Given the description of an element on the screen output the (x, y) to click on. 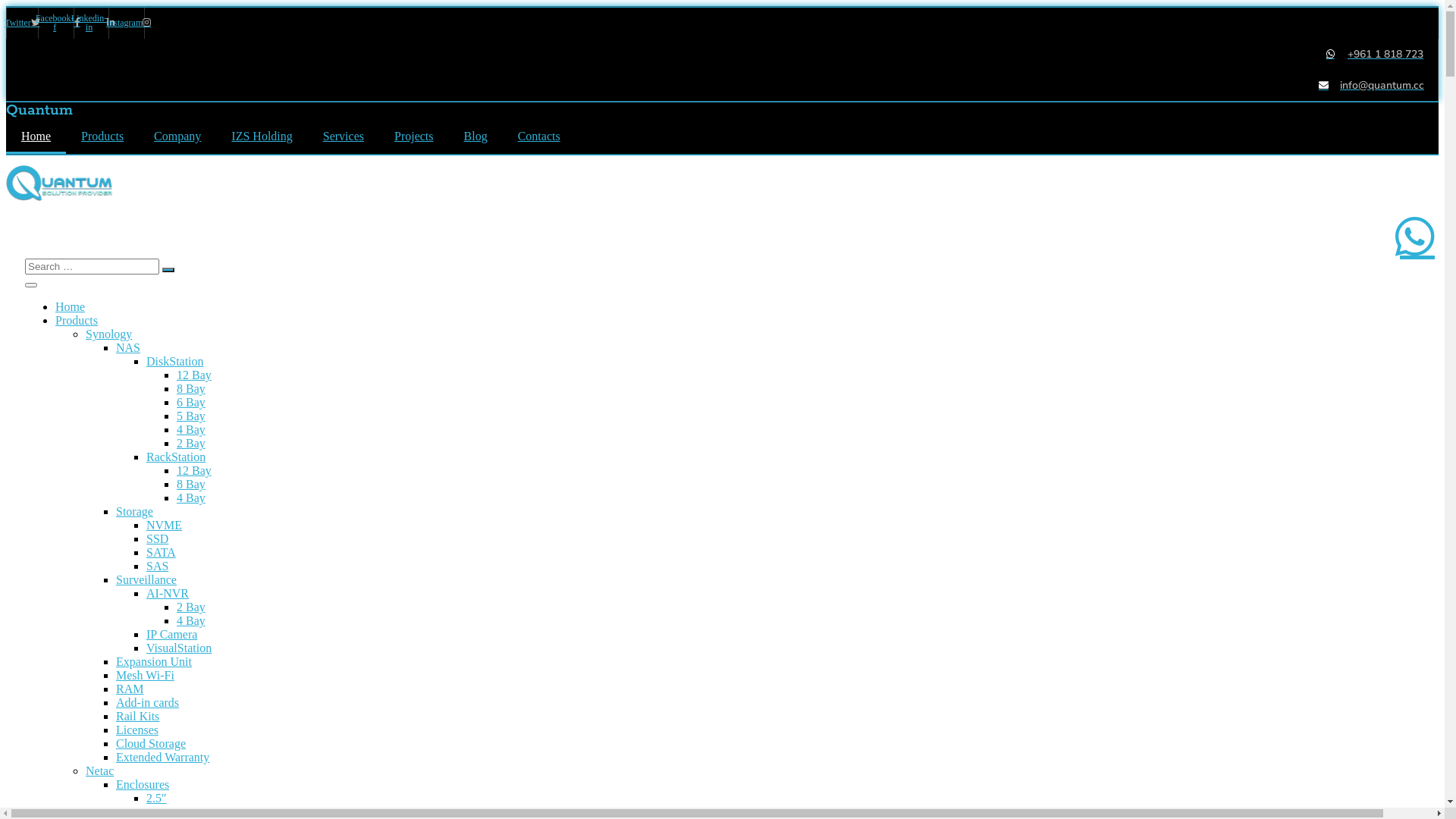
IP Camera Element type: text (171, 633)
8 Bay Element type: text (190, 388)
Cloud Storage Element type: text (150, 743)
Enclosures Element type: text (142, 784)
RackStation Element type: text (175, 456)
SATA Element type: text (160, 552)
Instagram Element type: text (128, 22)
Projects Element type: text (413, 136)
4 Bay Element type: text (190, 497)
5 Bay Element type: text (190, 415)
8 Bay Element type: text (190, 483)
Linkedin-in Element type: text (93, 22)
SSD Element type: text (157, 538)
2 Bay Element type: text (190, 442)
Netac Element type: text (99, 770)
DiskStation Element type: text (174, 360)
Products Element type: text (101, 136)
NVME Element type: text (164, 524)
Add-in cards Element type: text (147, 702)
Surveillance Element type: text (146, 579)
Services Element type: text (343, 136)
VisualStation Element type: text (178, 647)
Storage Element type: text (134, 511)
Extended Warranty Element type: text (162, 756)
12 Bay Element type: text (193, 374)
Company Element type: text (177, 136)
Home Element type: text (35, 136)
6 Bay Element type: text (190, 401)
Rail Kits Element type: text (137, 715)
info@quantum.cc Element type: text (715, 84)
SAS Element type: text (157, 565)
Mesh Wi-Fi Element type: text (145, 674)
NAS Element type: text (128, 347)
12 Bay Element type: text (193, 470)
+961 1 818 723 Element type: text (714, 53)
Blog Element type: text (475, 136)
4 Bay Element type: text (190, 429)
Home Element type: text (69, 306)
Licenses Element type: text (137, 729)
AI-NVR Element type: text (167, 592)
2 Bay Element type: text (190, 606)
IZS Holding Element type: text (261, 136)
4 Bay Element type: text (190, 620)
RAM Element type: text (129, 688)
Contacts Element type: text (538, 136)
Synology Element type: text (108, 333)
Facebook-f Element type: text (58, 22)
Twitter Element type: text (22, 22)
Products Element type: text (76, 319)
USB Type A Element type: text (207, 811)
Expansion Unit Element type: text (153, 661)
